Given the description of an element on the screen output the (x, y) to click on. 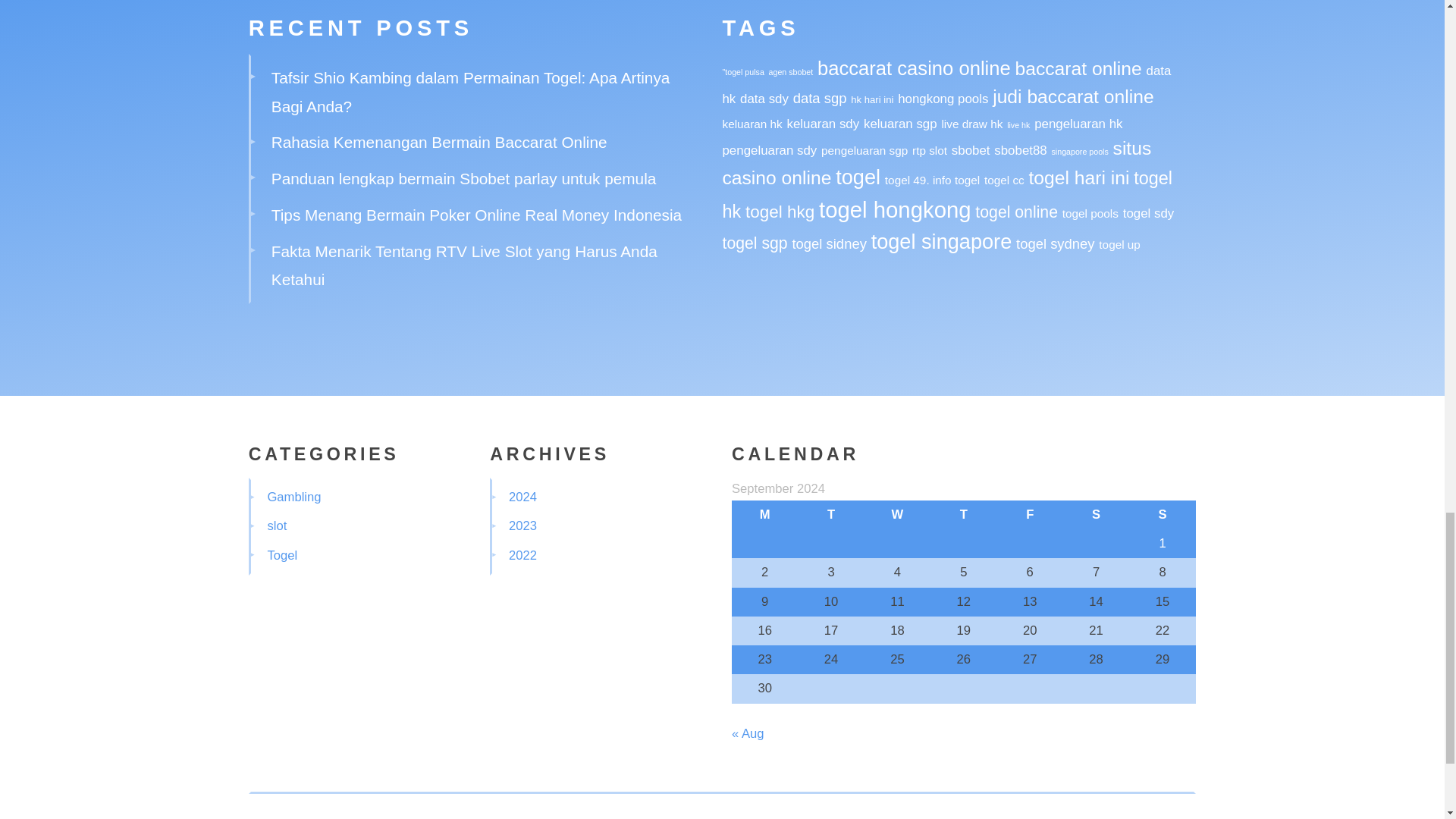
Friday (1029, 514)
keluaran sdy (823, 124)
baccarat casino online (913, 67)
live hk (1018, 124)
Wednesday (897, 514)
Monday (764, 514)
judi baccarat online (1072, 96)
Fakta Menarik Tentang RTV Live Slot yang Harus Anda Ketahui (464, 265)
Tips Menang Bermain Poker Online Real Money Indonesia (475, 214)
